Given the description of an element on the screen output the (x, y) to click on. 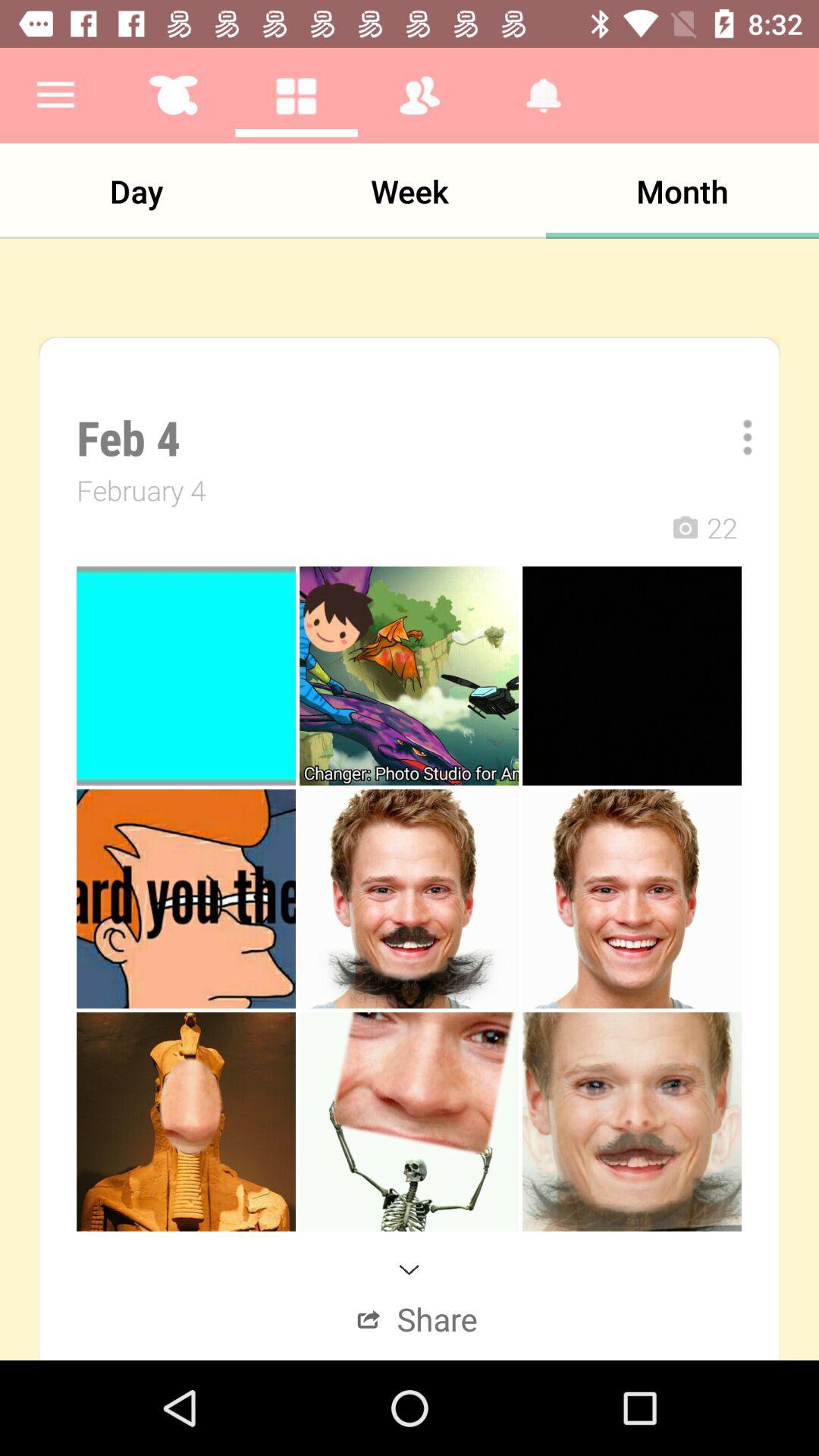
choose the item above the 22 (737, 437)
